Given the description of an element on the screen output the (x, y) to click on. 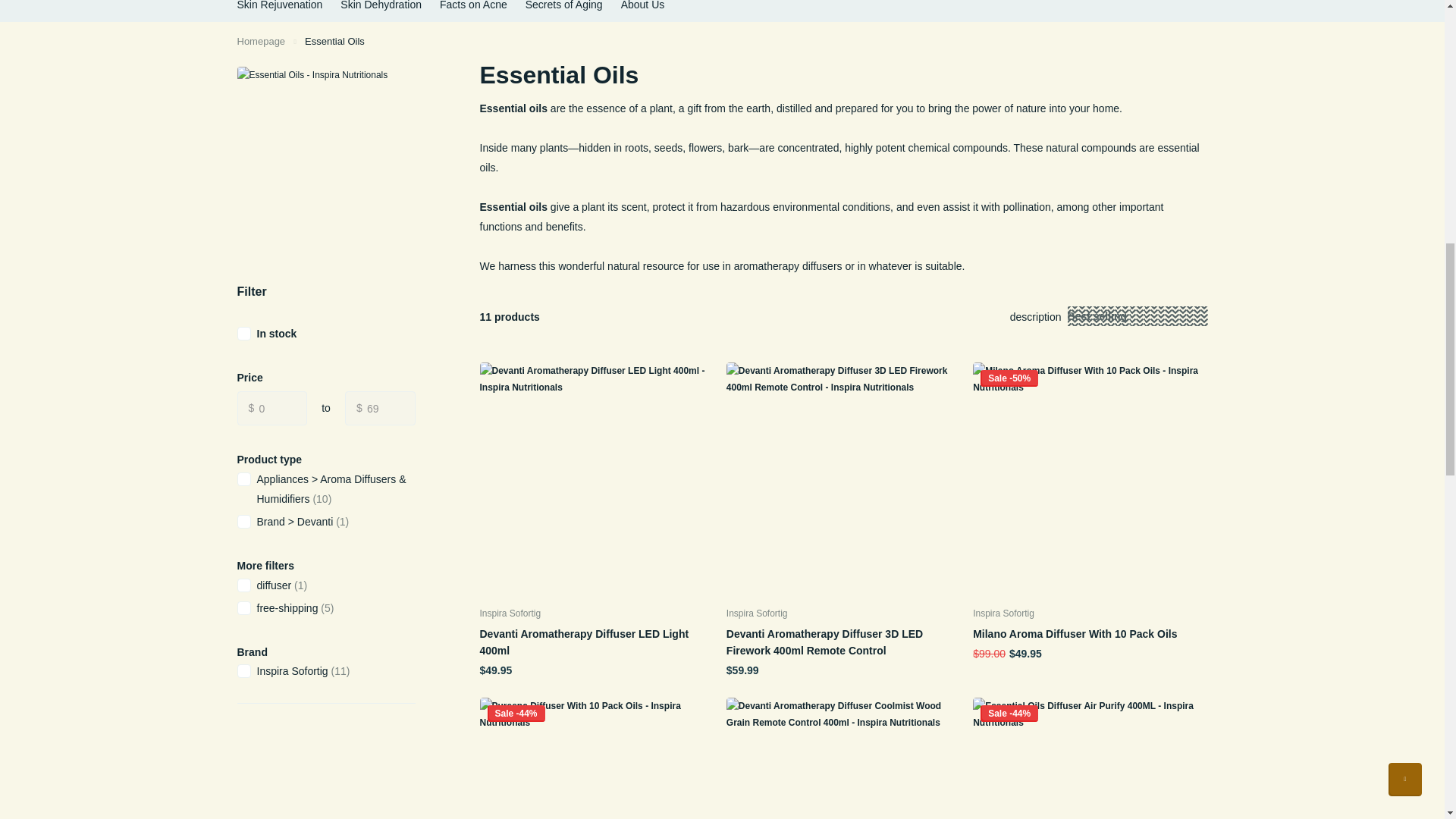
Skin Dehydration (381, 10)
69 (379, 408)
Skin Rejuvenation (278, 10)
0 (271, 408)
About Us (643, 10)
Home (260, 40)
Secrets of Aging (563, 10)
Facts on Acne (472, 10)
